Given the description of an element on the screen output the (x, y) to click on. 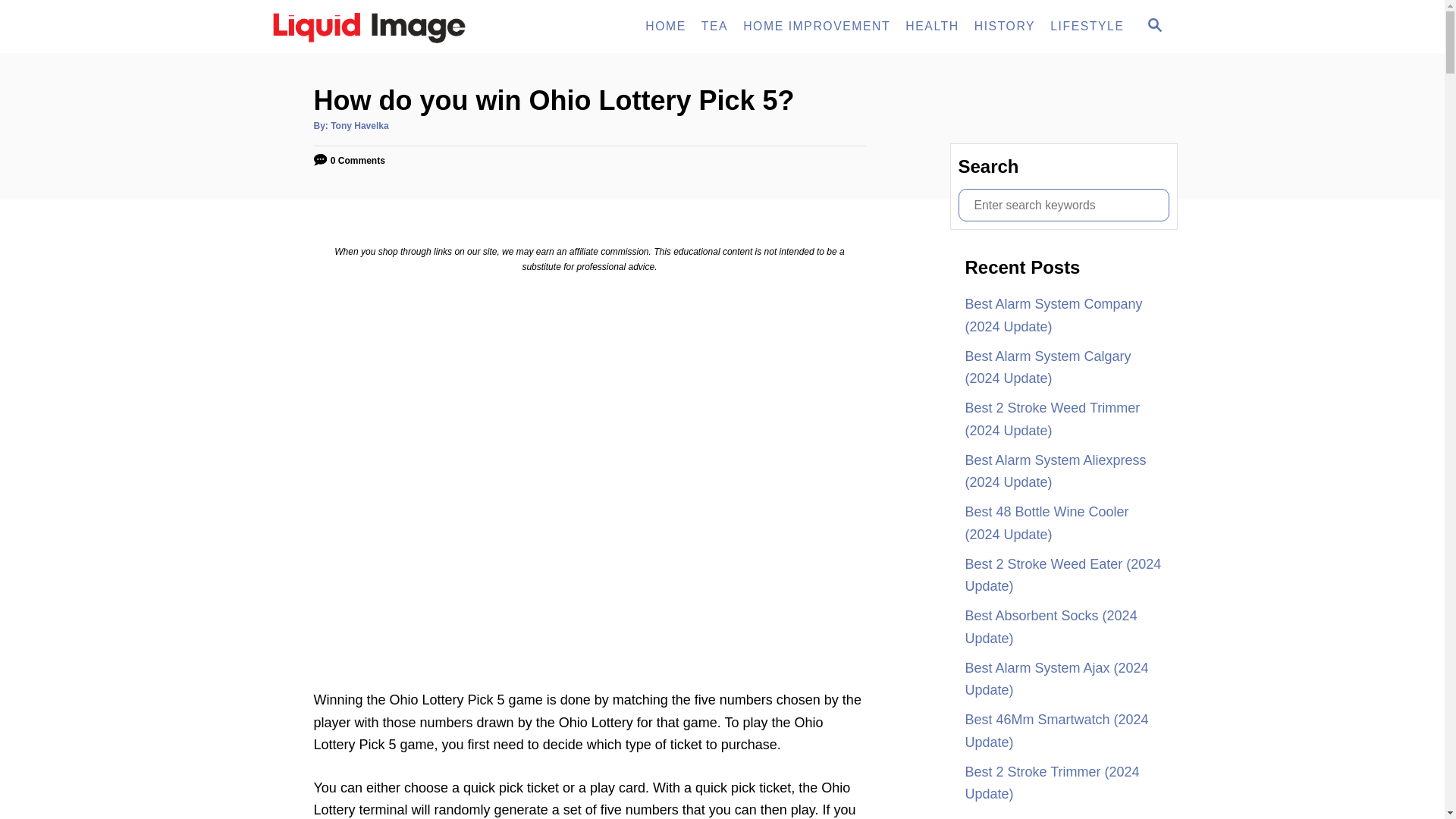
LIFESTYLE (1086, 26)
TEA (714, 26)
MAGNIFYING GLASS (1153, 24)
Liquid Image (403, 26)
HISTORY (1004, 26)
HOME IMPROVEMENT (816, 26)
Tony Havelka (359, 125)
HOME (665, 26)
HEALTH (1153, 26)
